Given the description of an element on the screen output the (x, y) to click on. 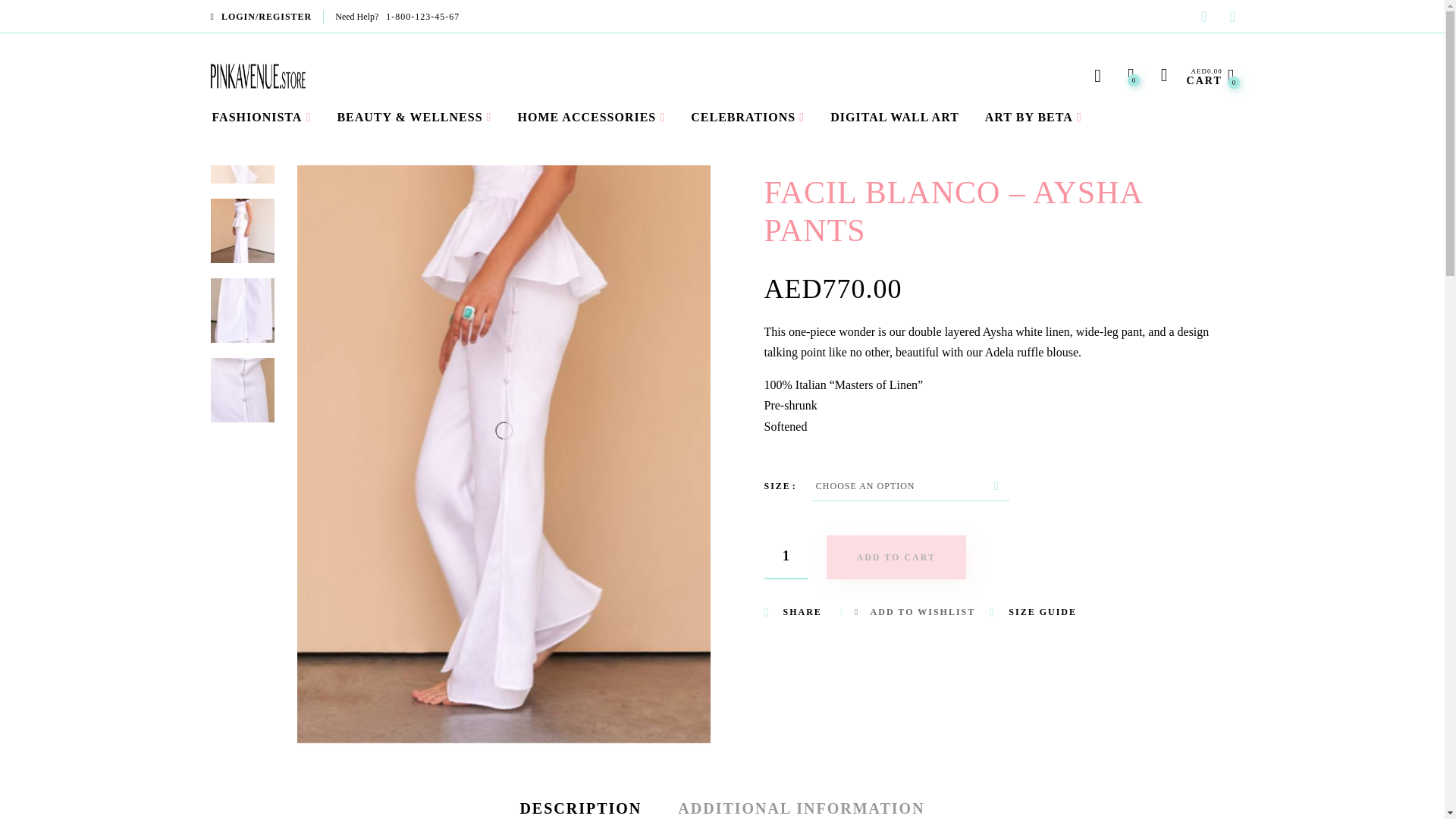
ART BY BETA (1210, 76)
1 (1029, 117)
DIGITAL WALL ART (786, 557)
Instagram (894, 117)
Facebook (1232, 17)
CELEBRATIONS (1203, 17)
FASHIONISTA (742, 117)
Qty (262, 117)
HOME ACCESSORIES (786, 557)
